Given the description of an element on the screen output the (x, y) to click on. 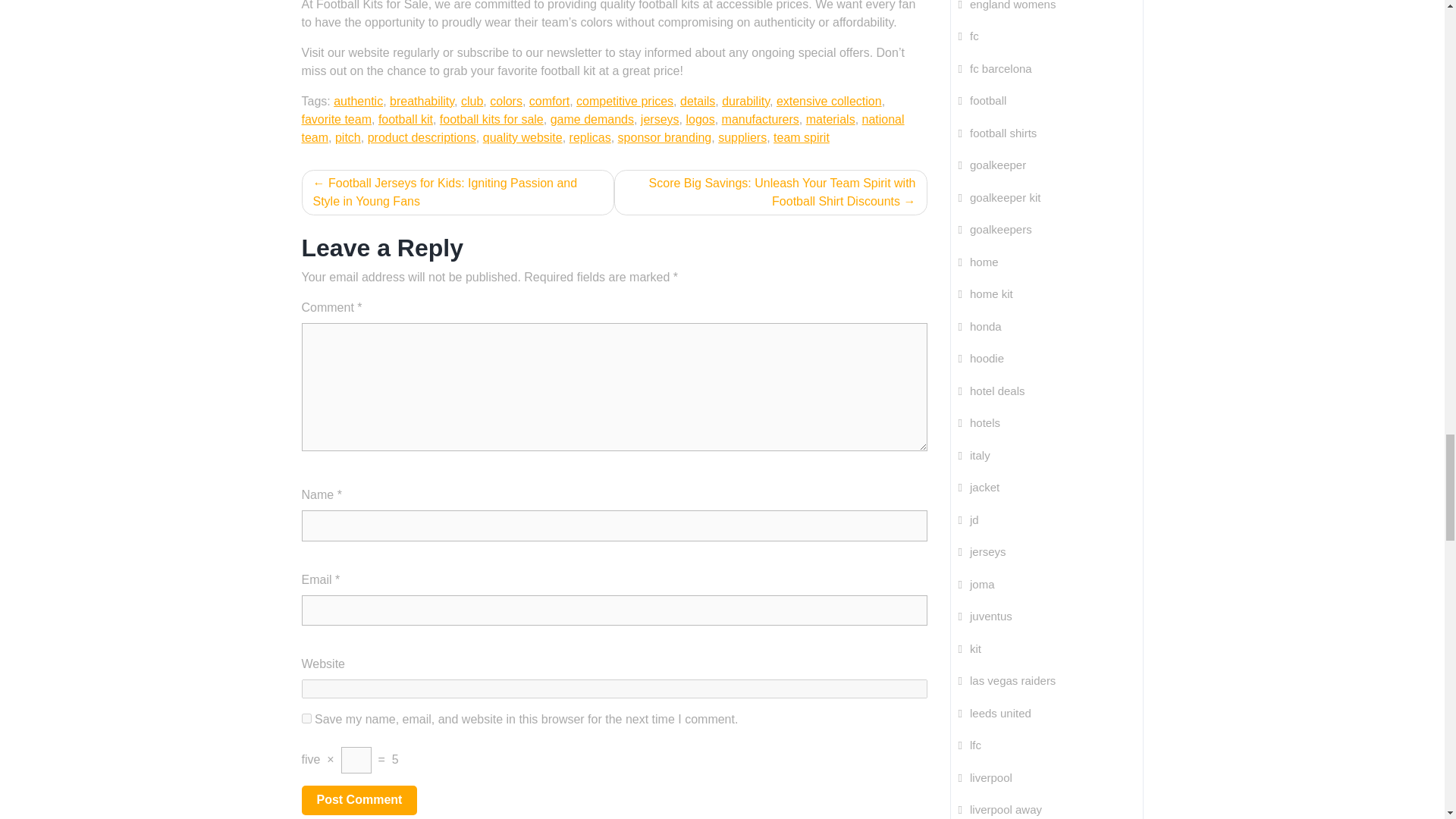
manufacturers (760, 119)
comfort (549, 101)
competitive prices (624, 101)
extensive collection (829, 101)
game demands (591, 119)
product descriptions (422, 137)
breathability (422, 101)
suppliers (742, 137)
team spirit (801, 137)
details (696, 101)
materials (831, 119)
sponsor branding (664, 137)
durability (746, 101)
quality website (522, 137)
